Given the description of an element on the screen output the (x, y) to click on. 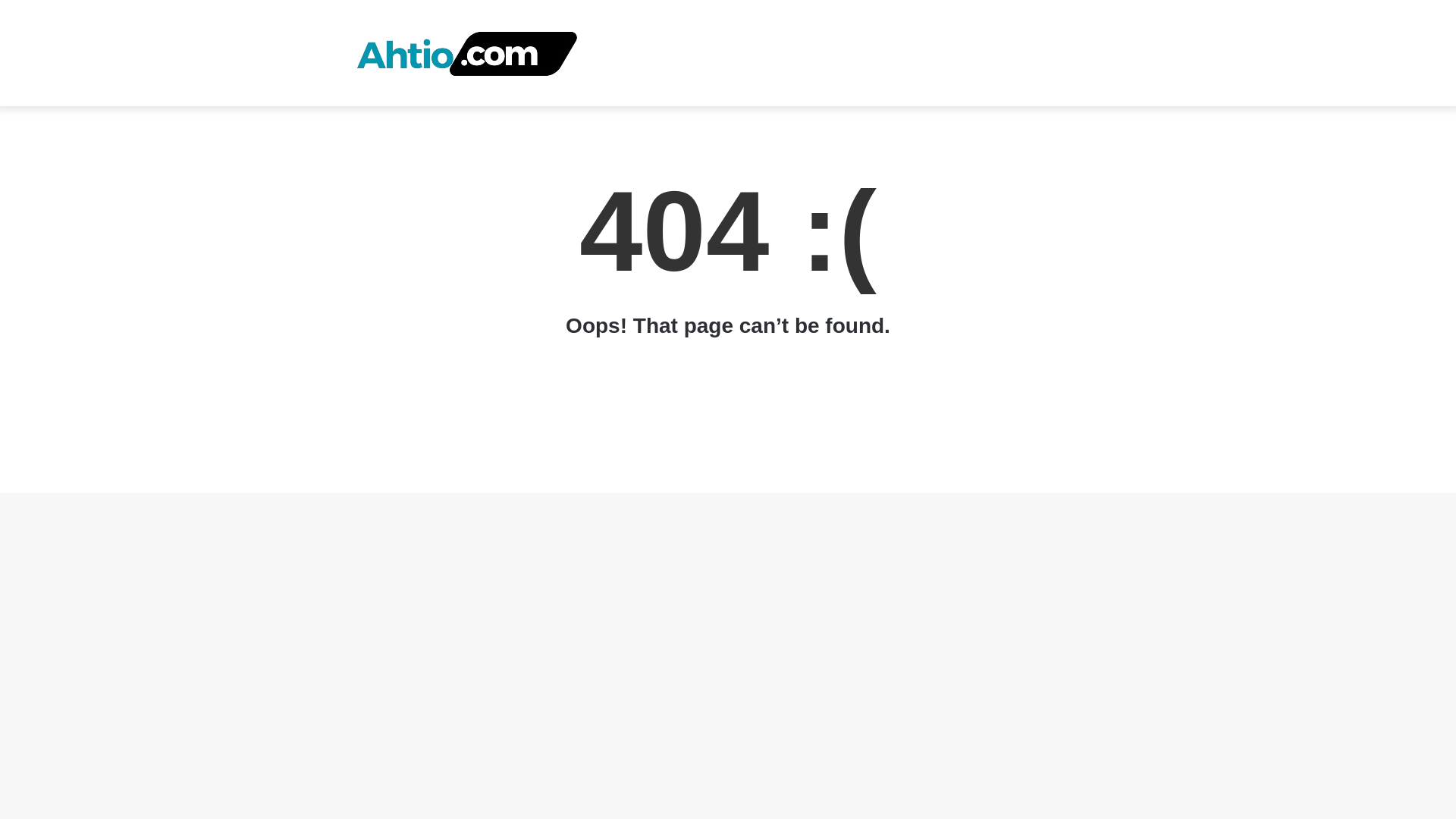
Ahtio.com (473, 52)
